Given the description of an element on the screen output the (x, y) to click on. 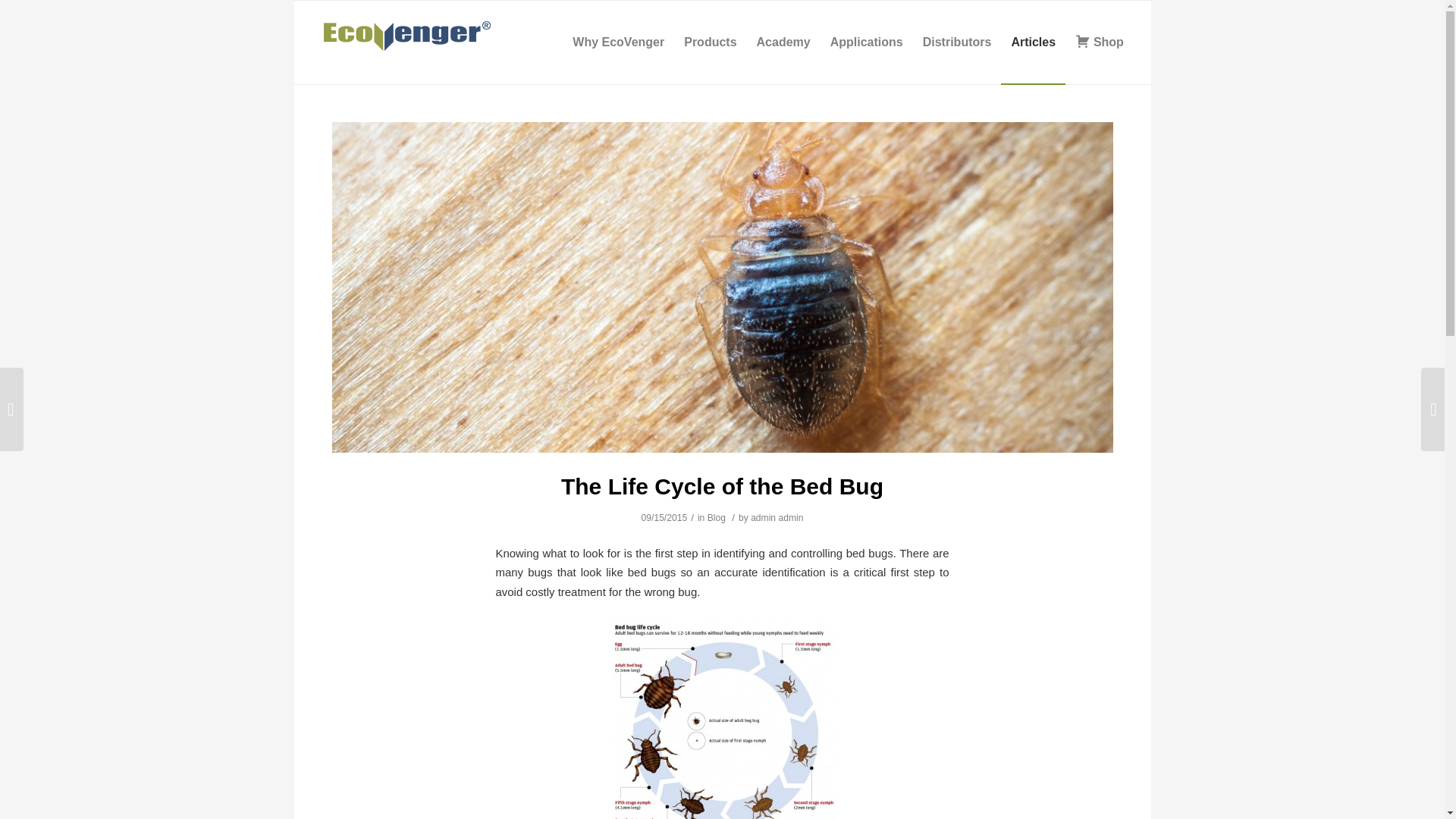
Why EcoVenger (618, 42)
admin admin (777, 517)
Posts by admin admin (777, 517)
Blog (716, 517)
